Given the description of an element on the screen output the (x, y) to click on. 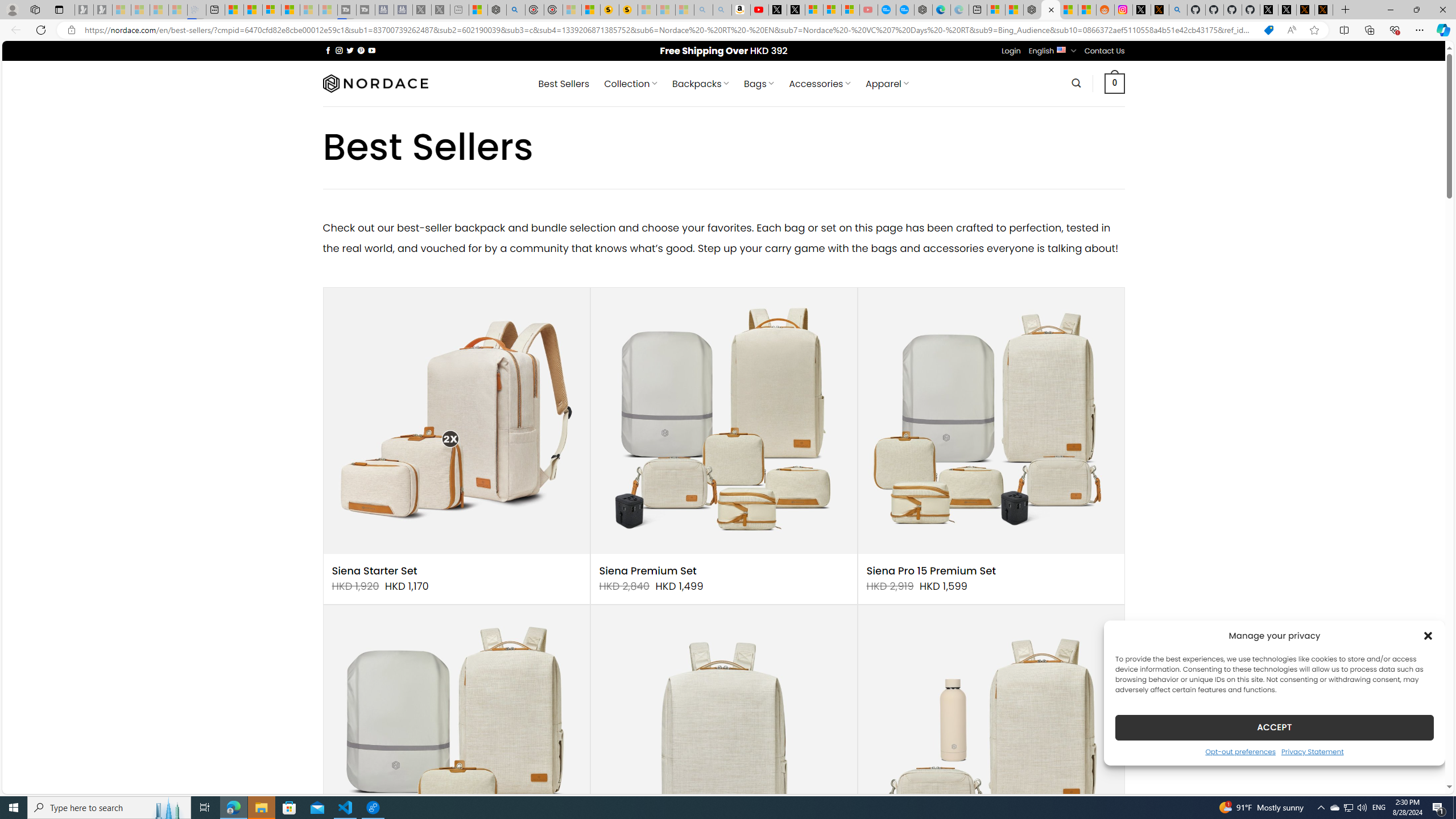
  0   (1115, 83)
Microsoft Start - Sleeping (309, 9)
Follow on Pinterest (360, 49)
Nordace - Nordace has arrived Hong Kong (923, 9)
Follow on Twitter (349, 49)
